Given the description of an element on the screen output the (x, y) to click on. 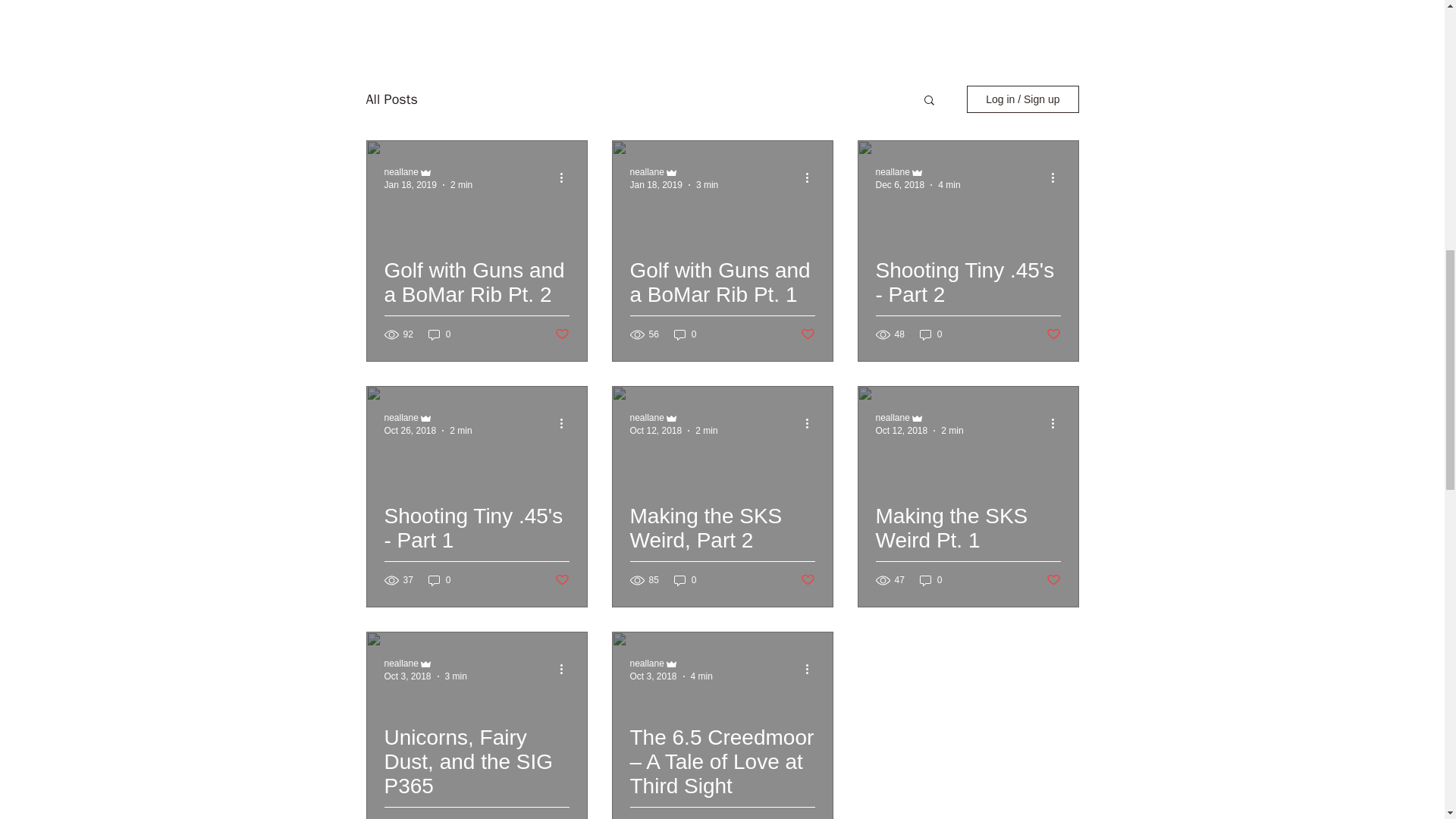
Post not marked as liked (1053, 334)
neallane (891, 172)
neallane (400, 663)
neallane (400, 417)
neallane (400, 172)
0 (930, 334)
4 min (948, 184)
2 min (706, 430)
Oct 26, 2018 (409, 430)
neallane (645, 172)
